Given the description of an element on the screen output the (x, y) to click on. 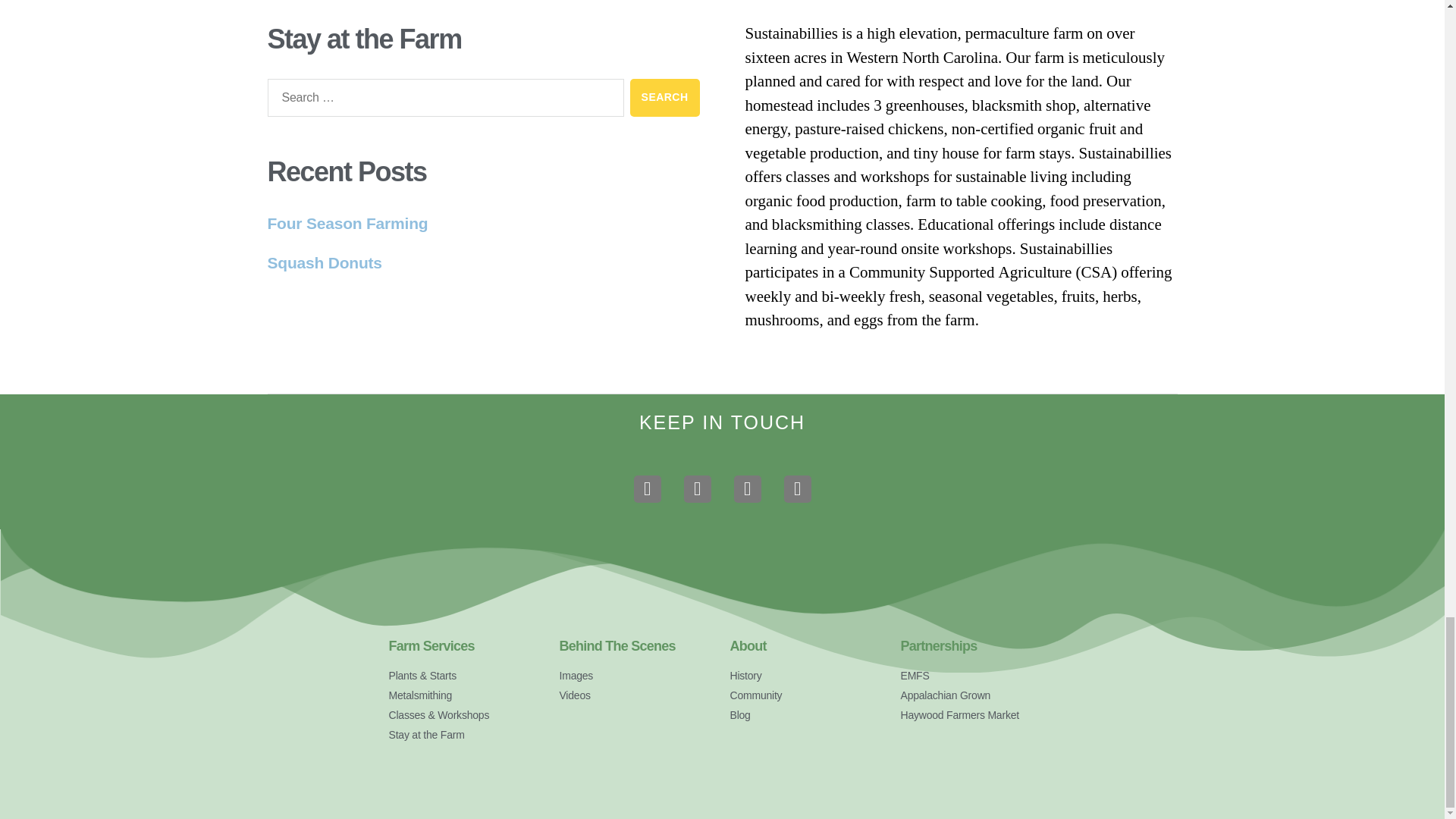
Search (665, 97)
Search (665, 97)
Squash Donuts (323, 262)
Search (665, 97)
Four Season Farming (347, 222)
